Given the description of an element on the screen output the (x, y) to click on. 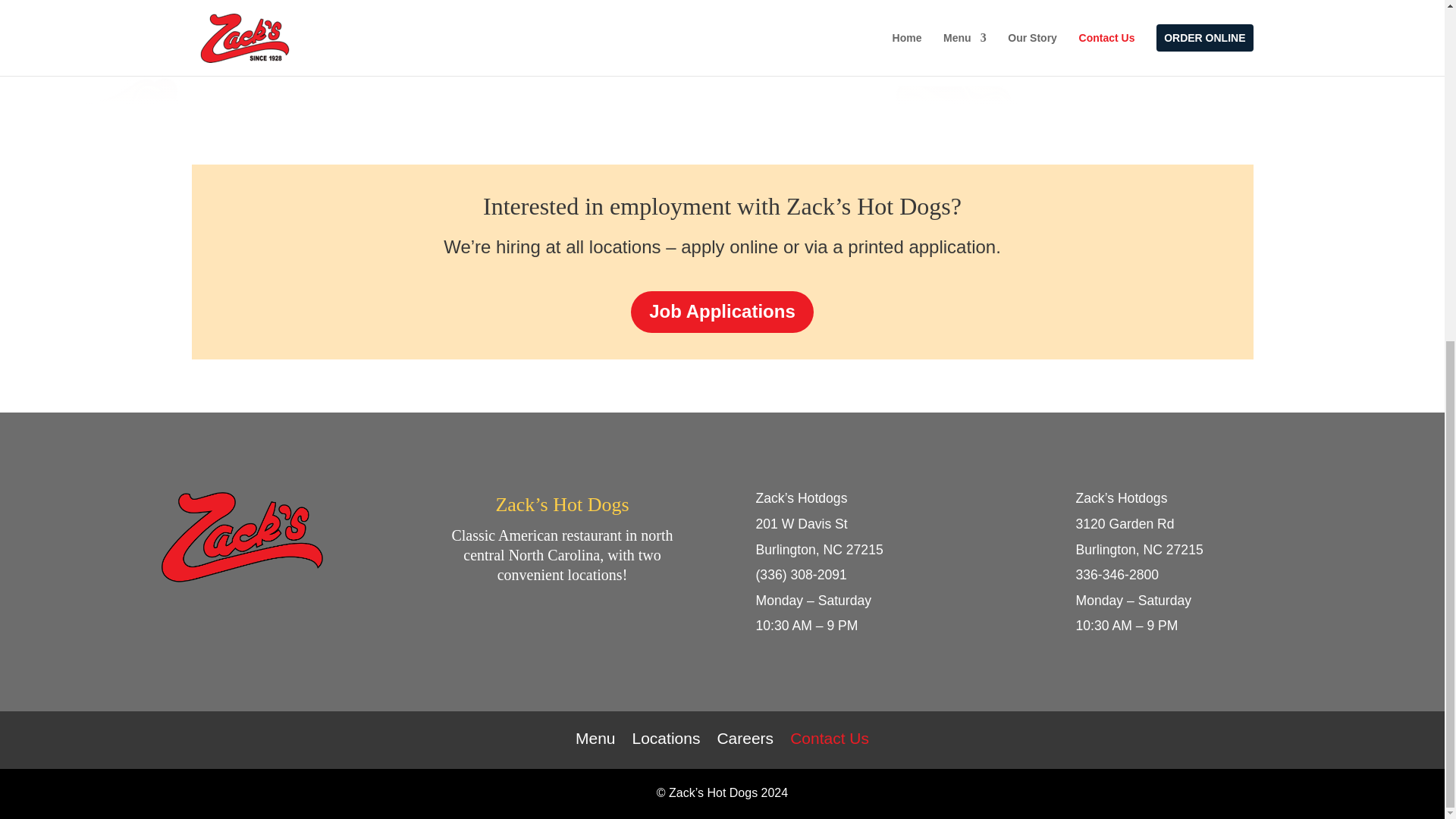
Menu (595, 727)
Locations (665, 727)
Careers (744, 727)
zacks-logo-without-hotdogs (241, 543)
Contact Us (829, 727)
Job Applications (721, 311)
Submit (1203, 38)
